Given the description of an element on the screen output the (x, y) to click on. 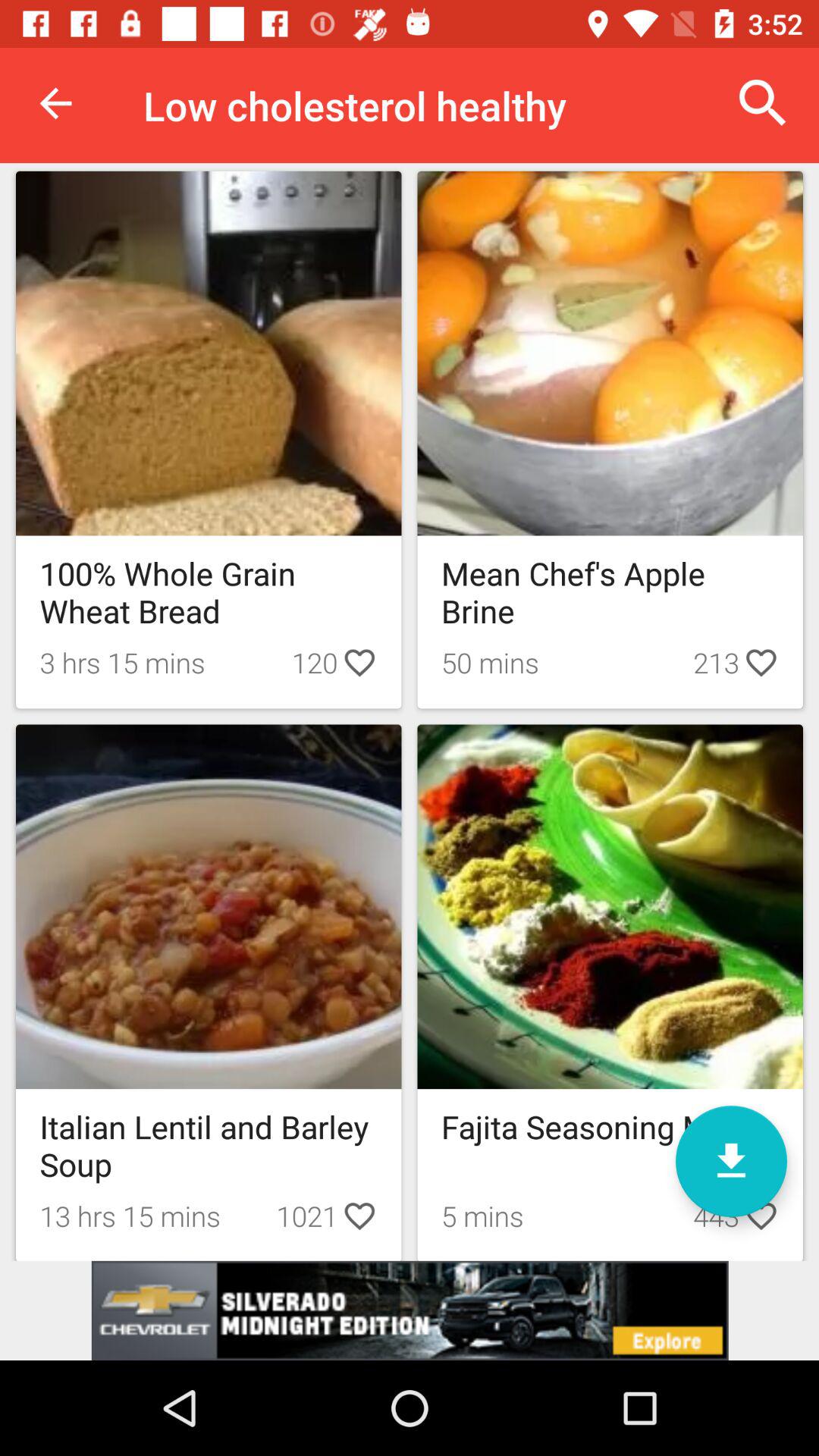
select the image of italian lentil and barkley soup (208, 907)
